Given the description of an element on the screen output the (x, y) to click on. 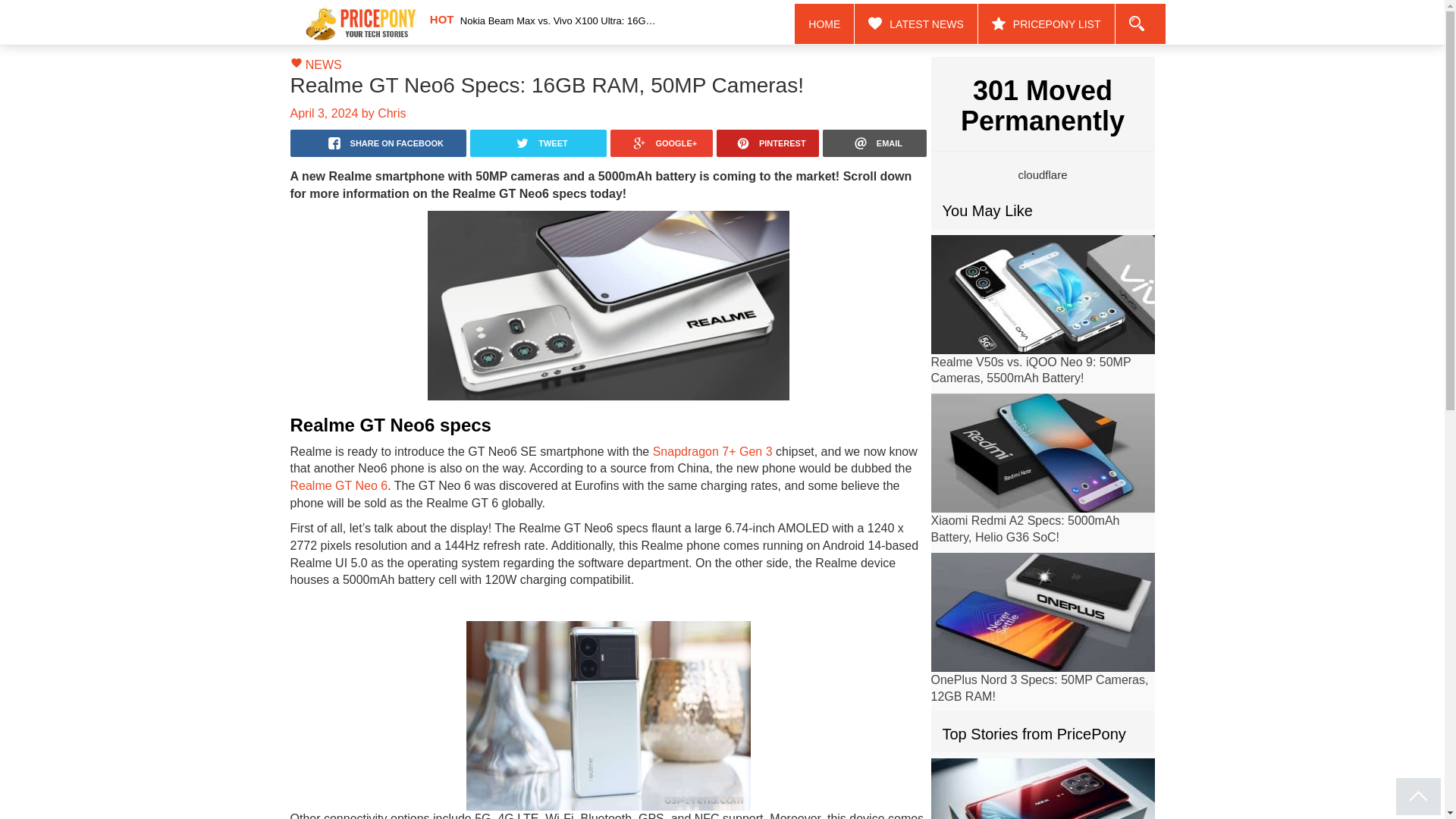
SHARE ON FACEBOOK (377, 143)
Xiaomi Redmi A2 Specs: 5000mAh Battery, Helio G36 SoC! (1042, 452)
NEWS (323, 64)
View all posts in News (323, 64)
Realme V50s vs. iQOO Neo 9: 50MP Cameras, 5500mAh Battery! (1042, 294)
OnePlus Nord 3 Specs: 50MP Cameras, 12GB RAM! (1039, 687)
Realme GT Neo 6 (338, 485)
pinterest (767, 143)
Realme V50s vs. iQOO Neo 9: 50MP Cameras, 5500mAh Battery! (1031, 369)
facebook (377, 143)
Realme V50s vs. iQOO Neo 9: 50MP Cameras, 5500mAh Battery! (1031, 369)
TWEET (538, 143)
Xiaomi Redmi A2 Specs: 5000mAh Battery, Helio G36 SoC! (1025, 528)
HOME (824, 24)
